Given the description of an element on the screen output the (x, y) to click on. 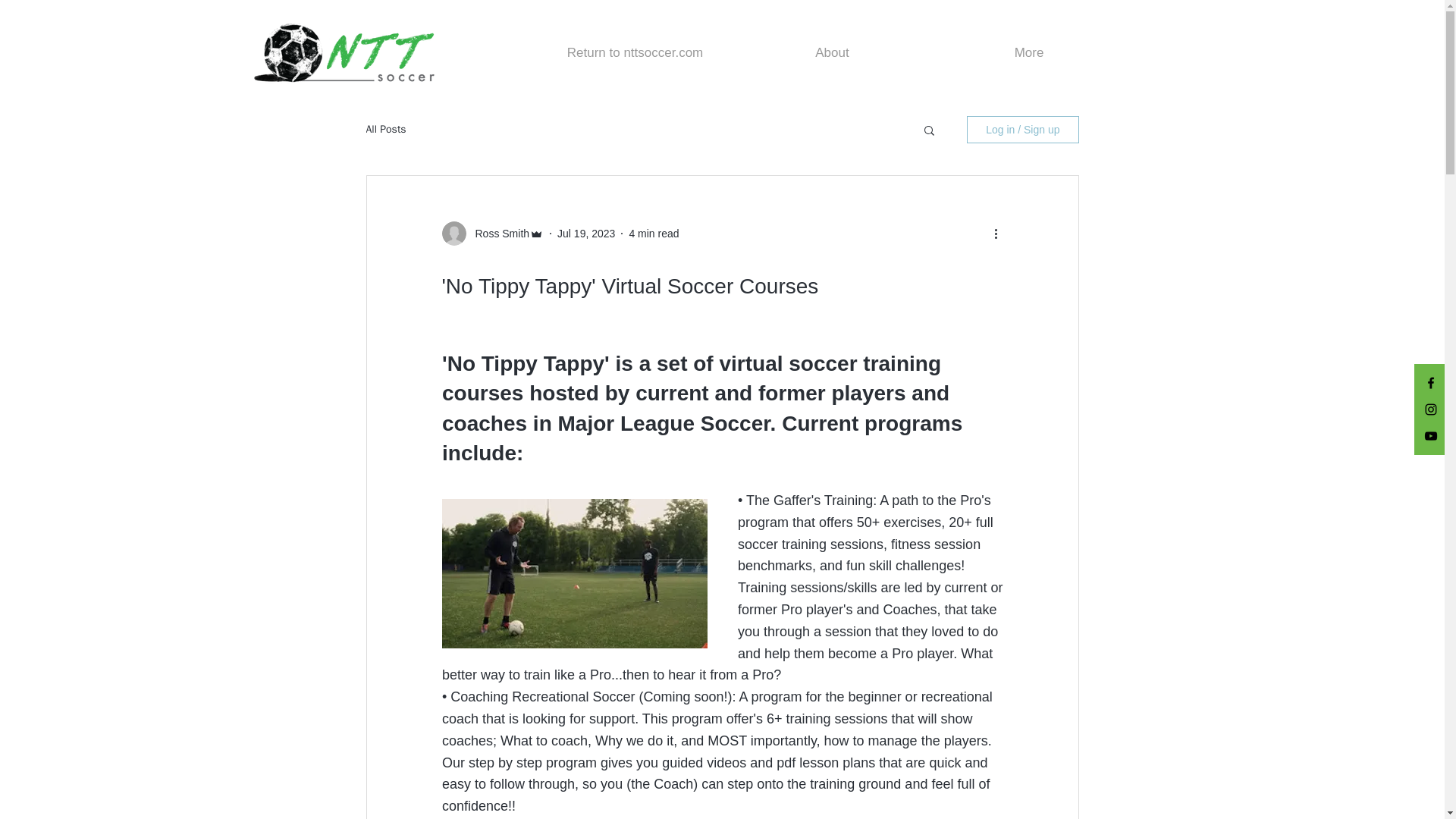
Ross Smith (497, 233)
All Posts (385, 129)
Jul 19, 2023 (585, 233)
4 min read (653, 233)
Return to nttsoccer.com (635, 52)
About (832, 52)
